Given the description of an element on the screen output the (x, y) to click on. 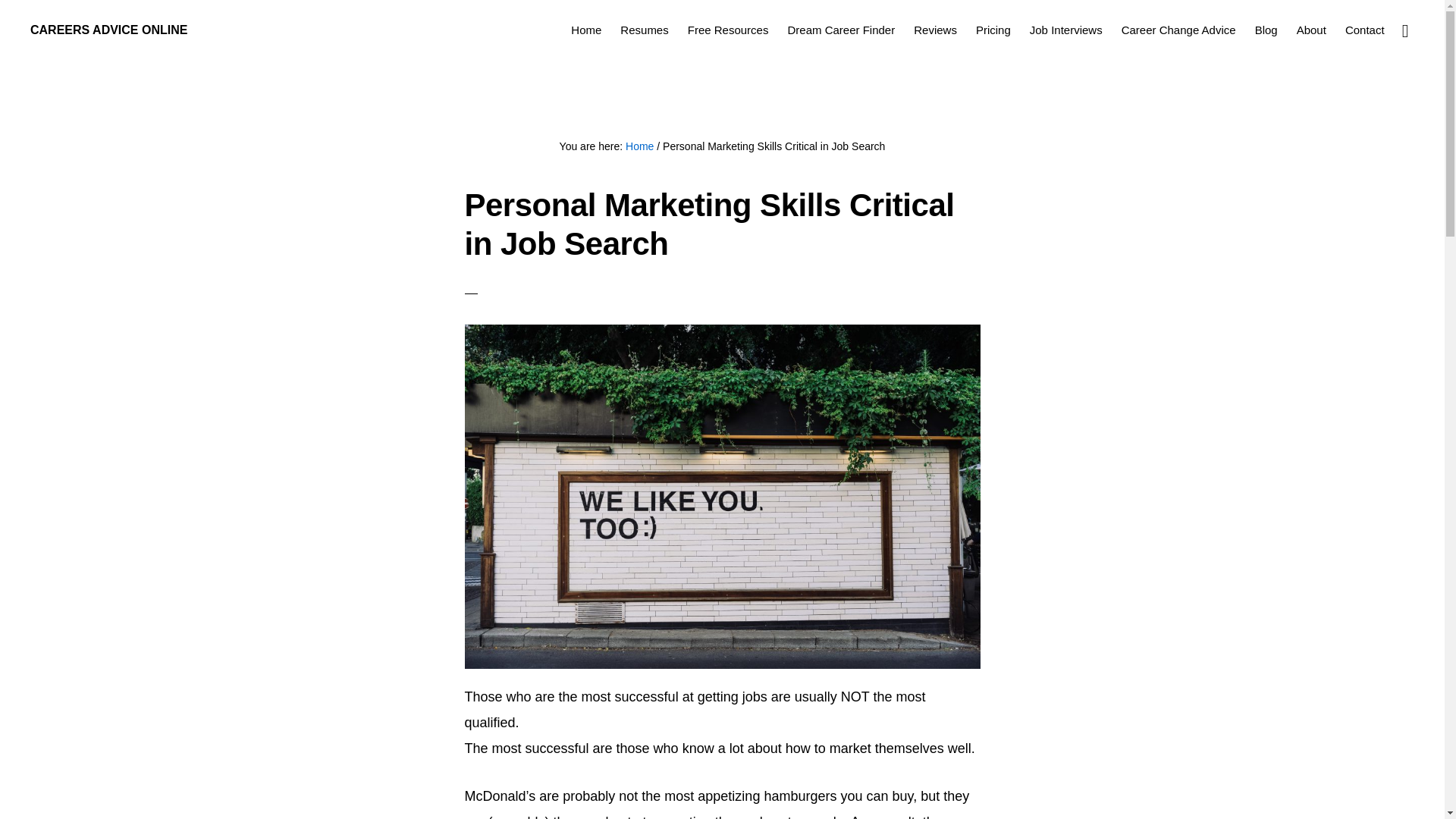
Reviews (934, 29)
Blog (1266, 29)
Job Interviews (1065, 29)
Contact (1364, 29)
Free Resources (727, 29)
Home (639, 146)
Resumes (643, 29)
Pricing (992, 29)
Privacy (764, 774)
Dream Career Finder (840, 29)
About (1310, 29)
careers-advice-online does not sell any personal information (722, 784)
Home (585, 29)
Career Change Advice (1178, 29)
